Given the description of an element on the screen output the (x, y) to click on. 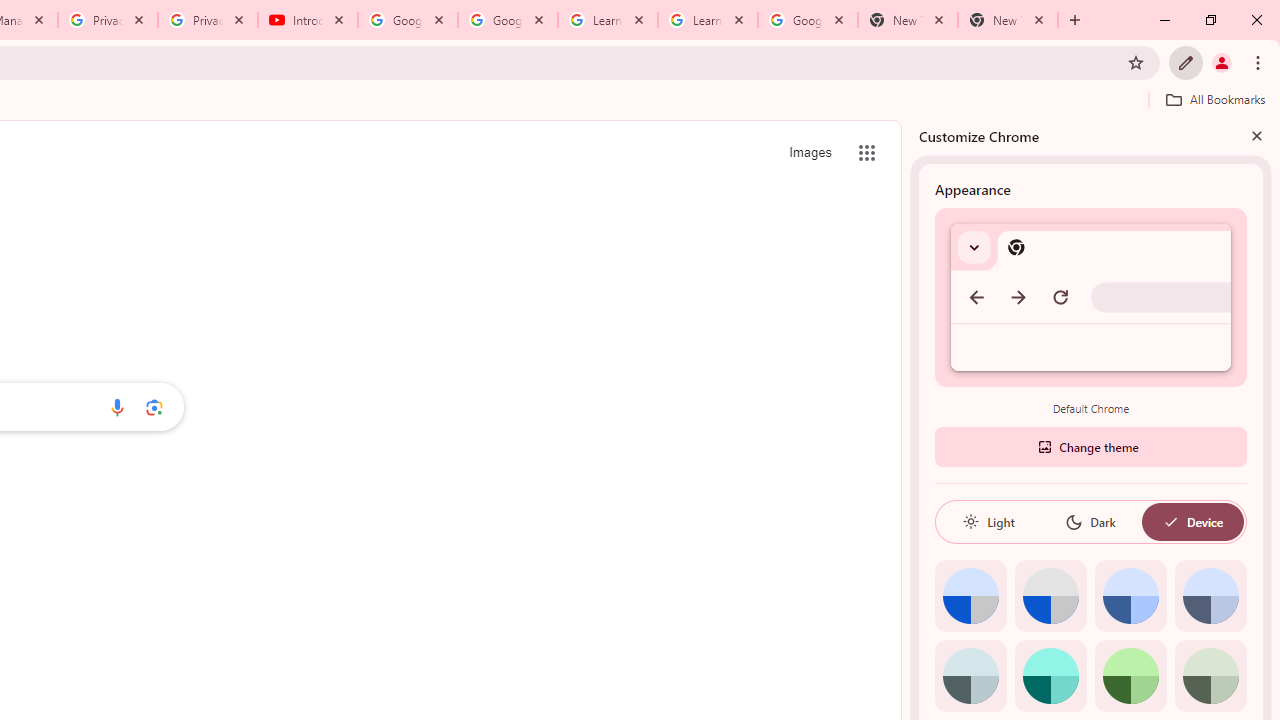
AutomationID: baseSvg (1170, 521)
Aqua (1050, 676)
New Tab (907, 20)
Introduction | Google Privacy Policy - YouTube (308, 20)
Viridian (1210, 676)
Cool grey (1210, 596)
Blue (1130, 596)
Search for Images  (810, 152)
Grey default color (1050, 596)
Device (1192, 521)
New Tab (1007, 20)
